Given the description of an element on the screen output the (x, y) to click on. 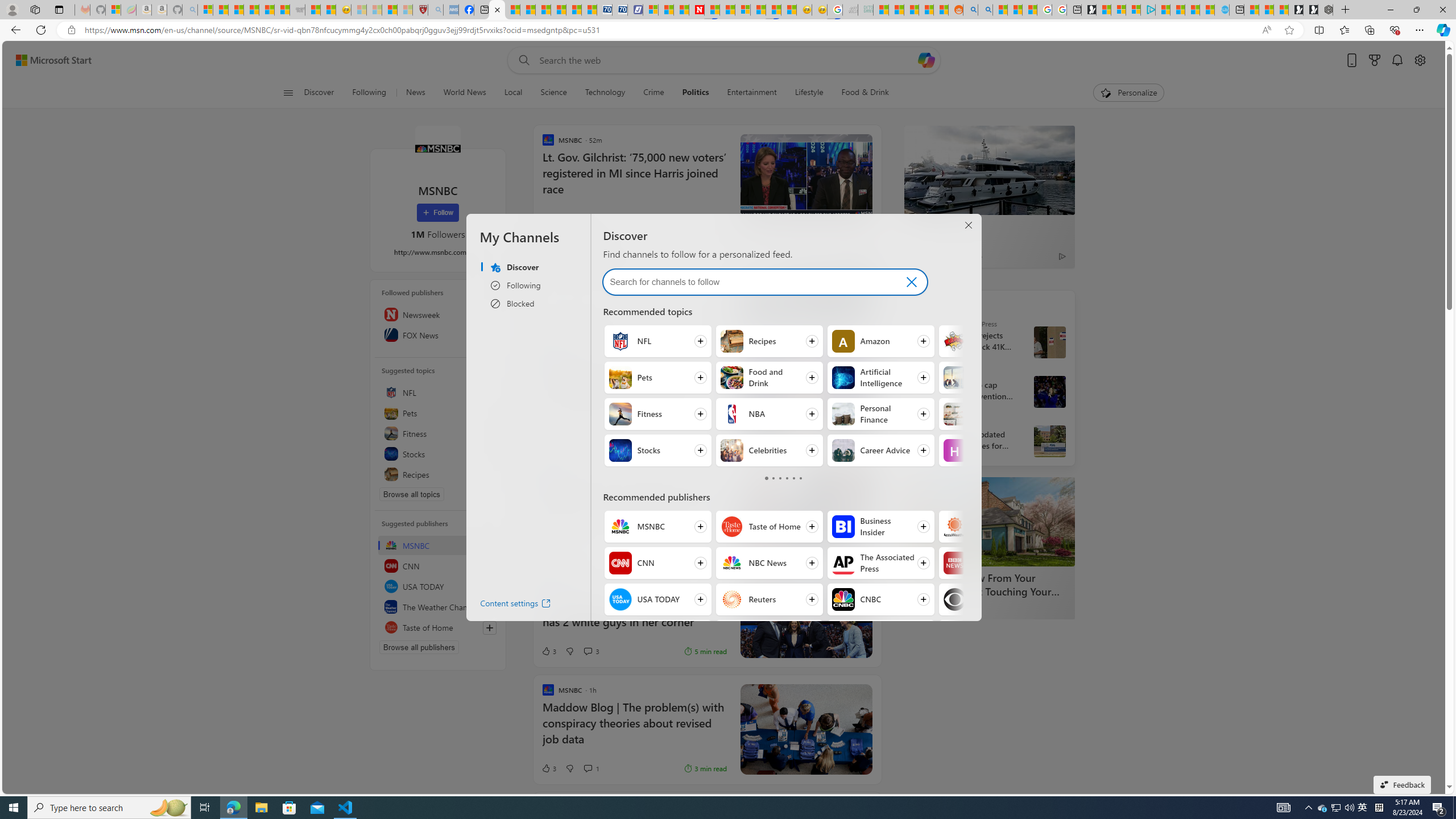
Follow USA TODAY (657, 599)
12 Popular Science Lies that Must be Corrected - Sleeping (405, 9)
Follow The Associated Press (880, 563)
Browse all topics (412, 494)
Follow CNBC (880, 599)
Follow Home Decor (992, 413)
Follow this topic (489, 474)
Crime (653, 92)
Microsoft Start Gaming (1087, 9)
Microsoft-Report a Concern to Bing (112, 9)
Pets (619, 377)
The Weather Channel - MSN (236, 9)
